Given the description of an element on the screen output the (x, y) to click on. 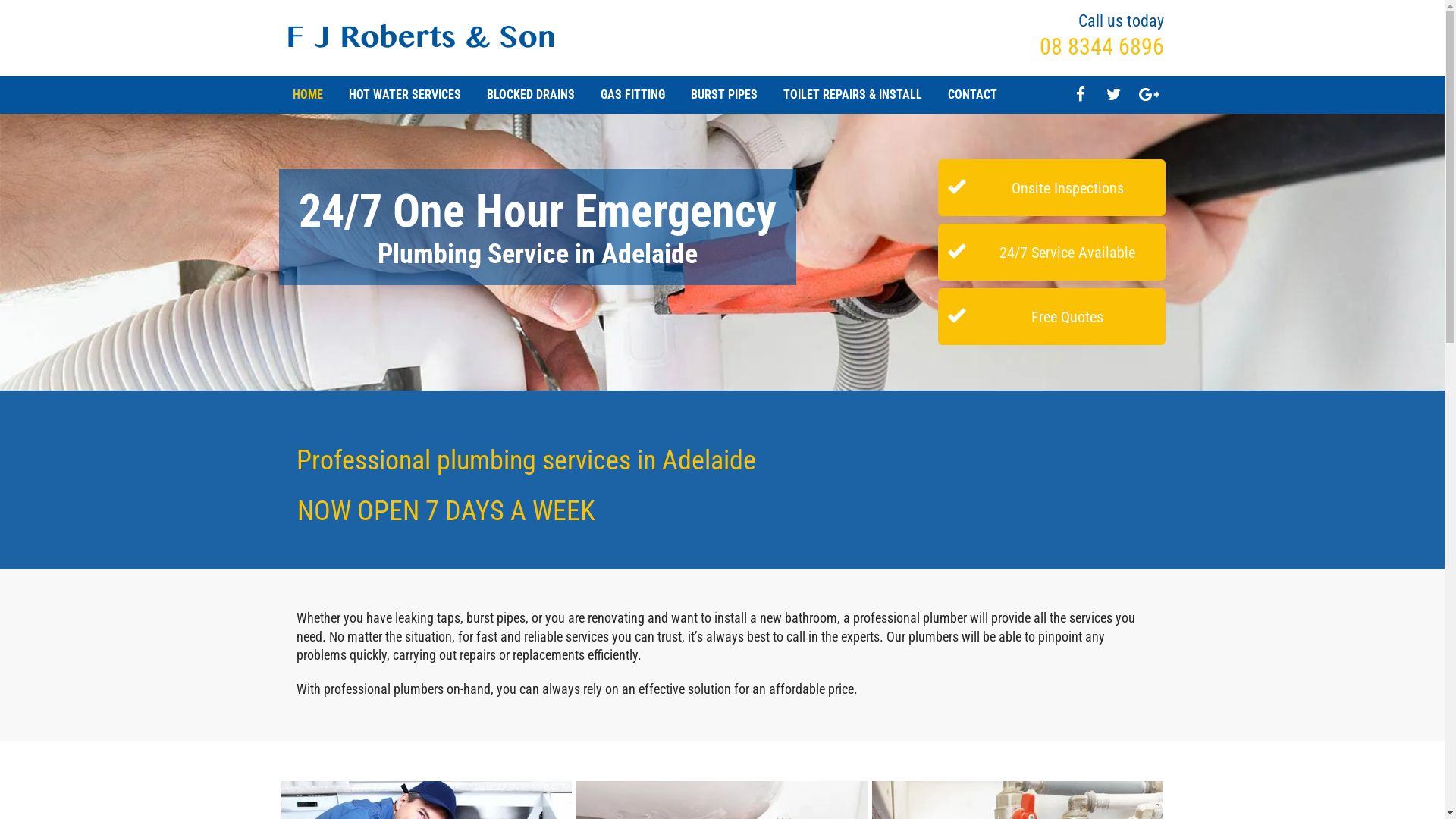
Onsite Inspections Element type: text (1051, 187)
CONTACT Element type: text (972, 94)
HOME Element type: text (307, 94)
24/7 Service Available Element type: text (1051, 251)
TOILET REPAIRS & INSTALL Element type: text (851, 94)
08 8344 6896 Element type: text (1100, 46)
HOT WATER SERVICES Element type: text (404, 94)
BLOCKED DRAINS Element type: text (530, 94)
BURST PIPES Element type: text (723, 94)
Free Quotes Element type: text (1051, 316)
F-J-Roberts-and-Son Element type: hover (421, 36)
GAS FITTING Element type: text (632, 94)
